Given the description of an element on the screen output the (x, y) to click on. 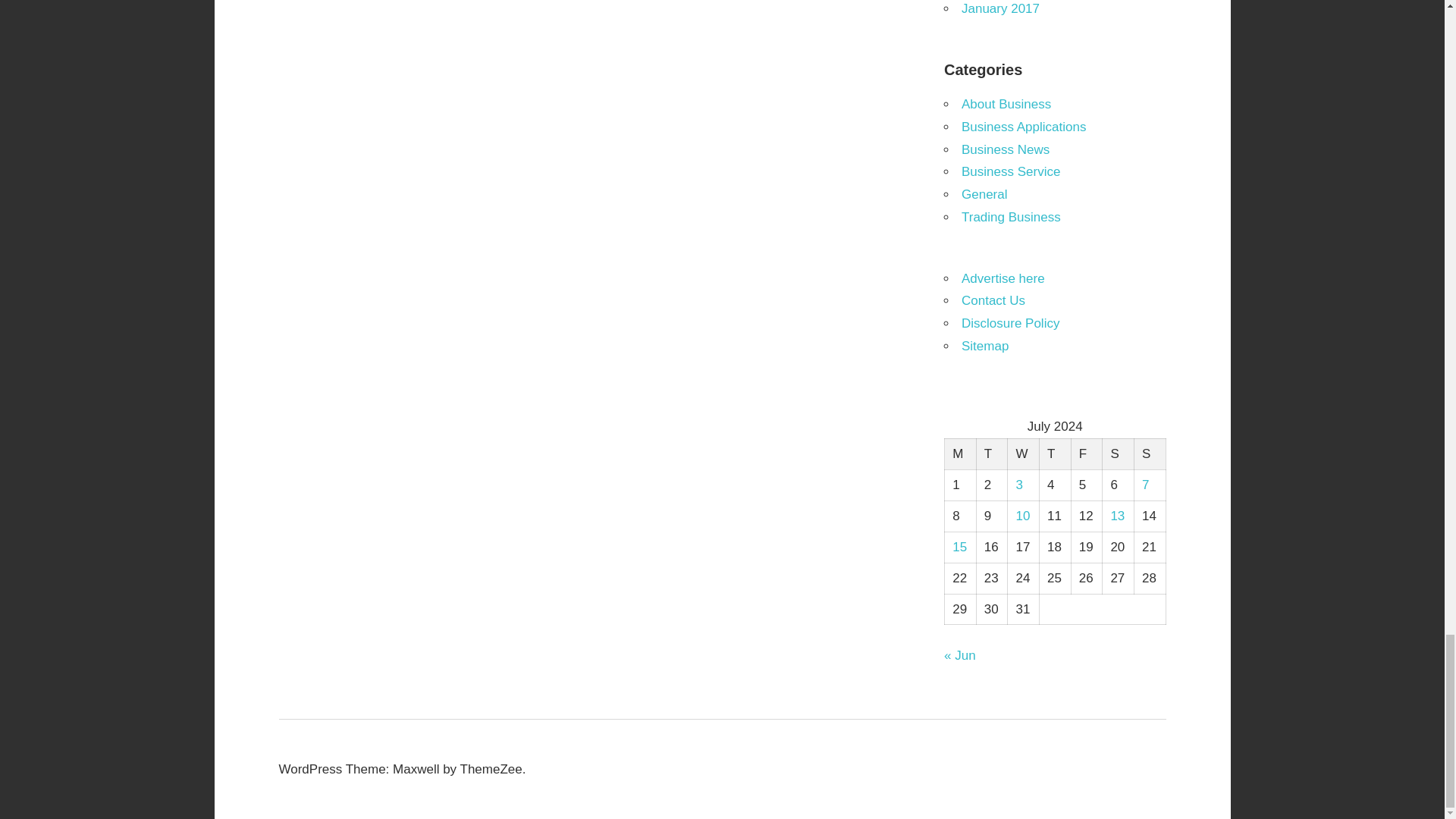
Thursday (1054, 453)
Saturday (1118, 453)
Friday (1086, 453)
Tuesday (991, 453)
Monday (960, 453)
Sunday (1150, 453)
Wednesday (1023, 453)
